Given the description of an element on the screen output the (x, y) to click on. 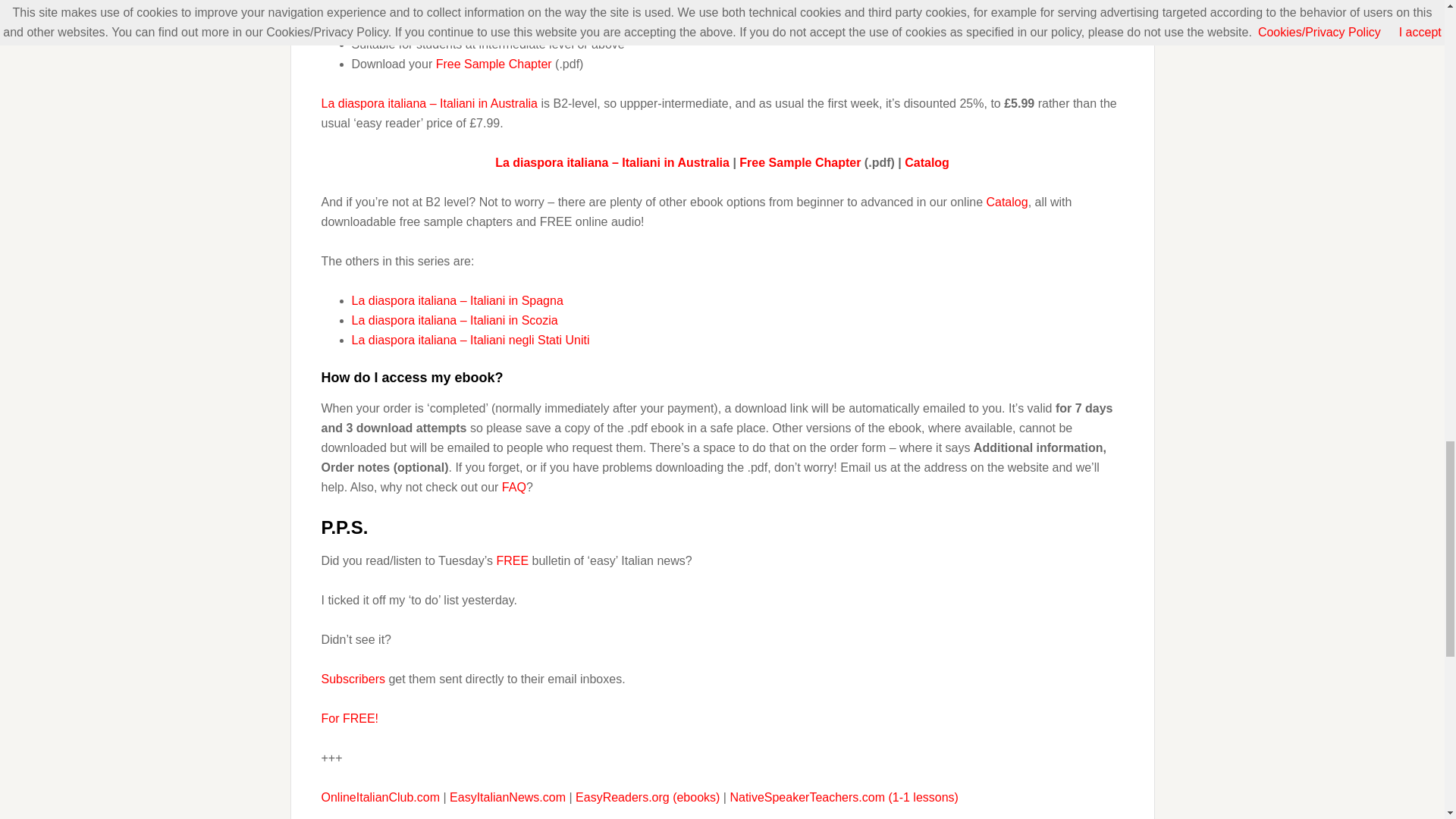
Catalog (1006, 201)
Free Sample Chapter (493, 63)
Catalog (926, 162)
Free Sample Chapter (799, 162)
